Given the description of an element on the screen output the (x, y) to click on. 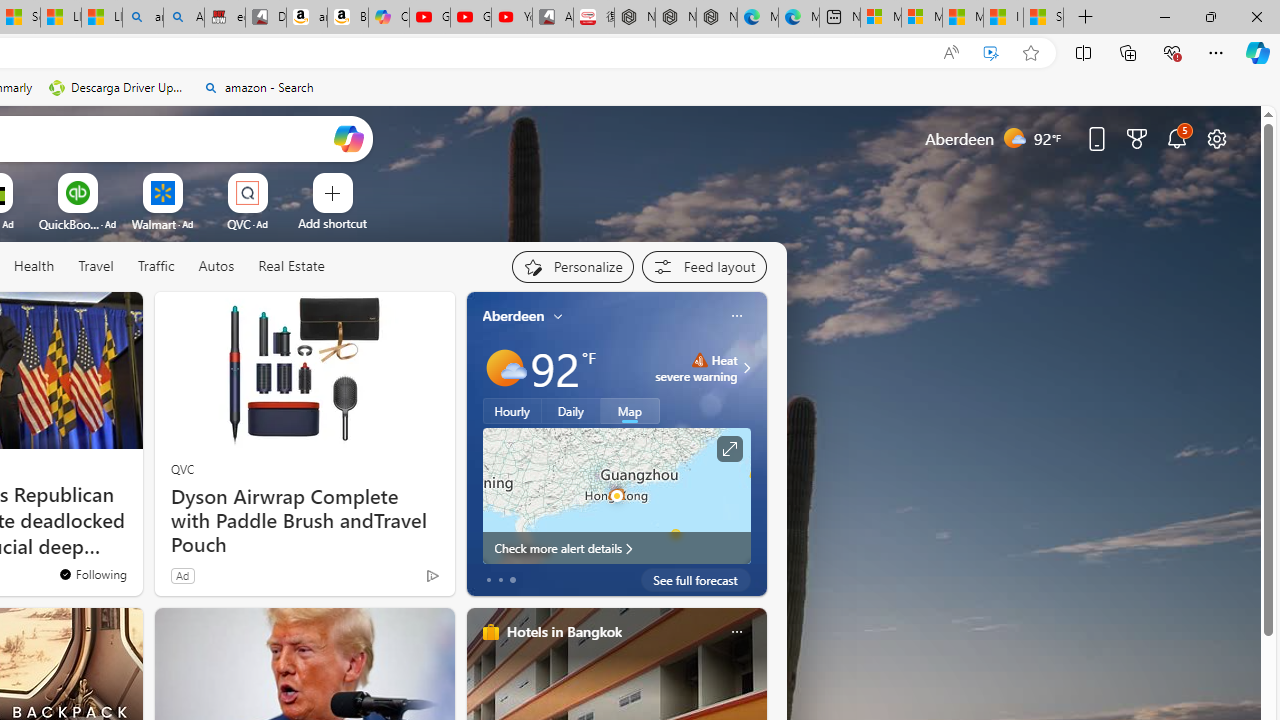
Browser essentials (1171, 52)
Minimize (1164, 16)
Nordace - Nordace has arrived Hong Kong (717, 17)
tab-0 (488, 579)
Heat - Severe Heat severe warning (696, 367)
New Tab (1085, 17)
Hotels in Bangkok (563, 631)
Health (33, 267)
Ad (182, 575)
YouTube Kids - An App Created for Kids to Explore Content (511, 17)
amazon - Search (142, 17)
amazon - Search (258, 88)
Ad Choice (432, 575)
